Given the description of an element on the screen output the (x, y) to click on. 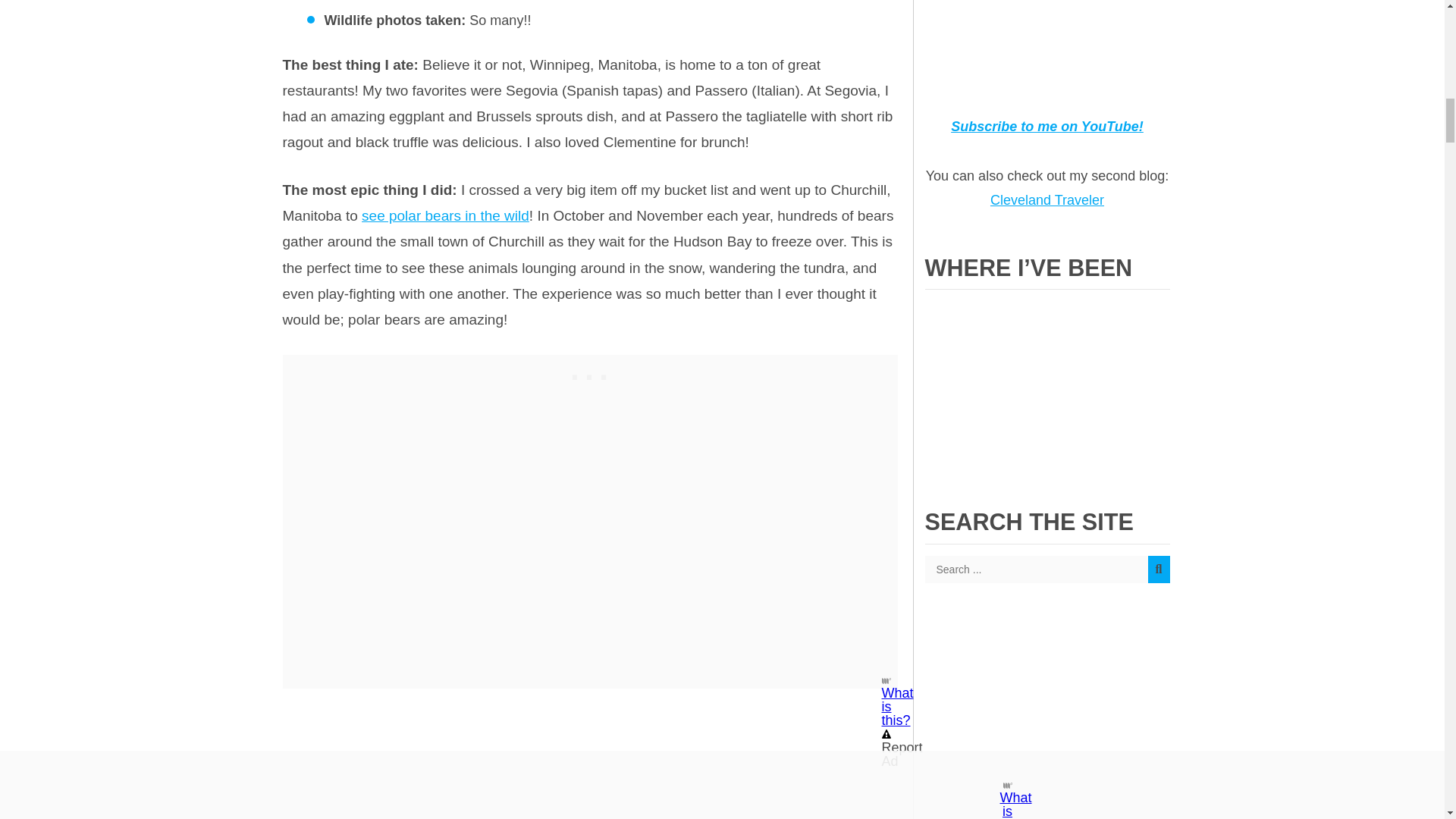
3rd party ad content (1046, 719)
Search for: (1047, 569)
3rd party ad content (589, 373)
